Given the description of an element on the screen output the (x, y) to click on. 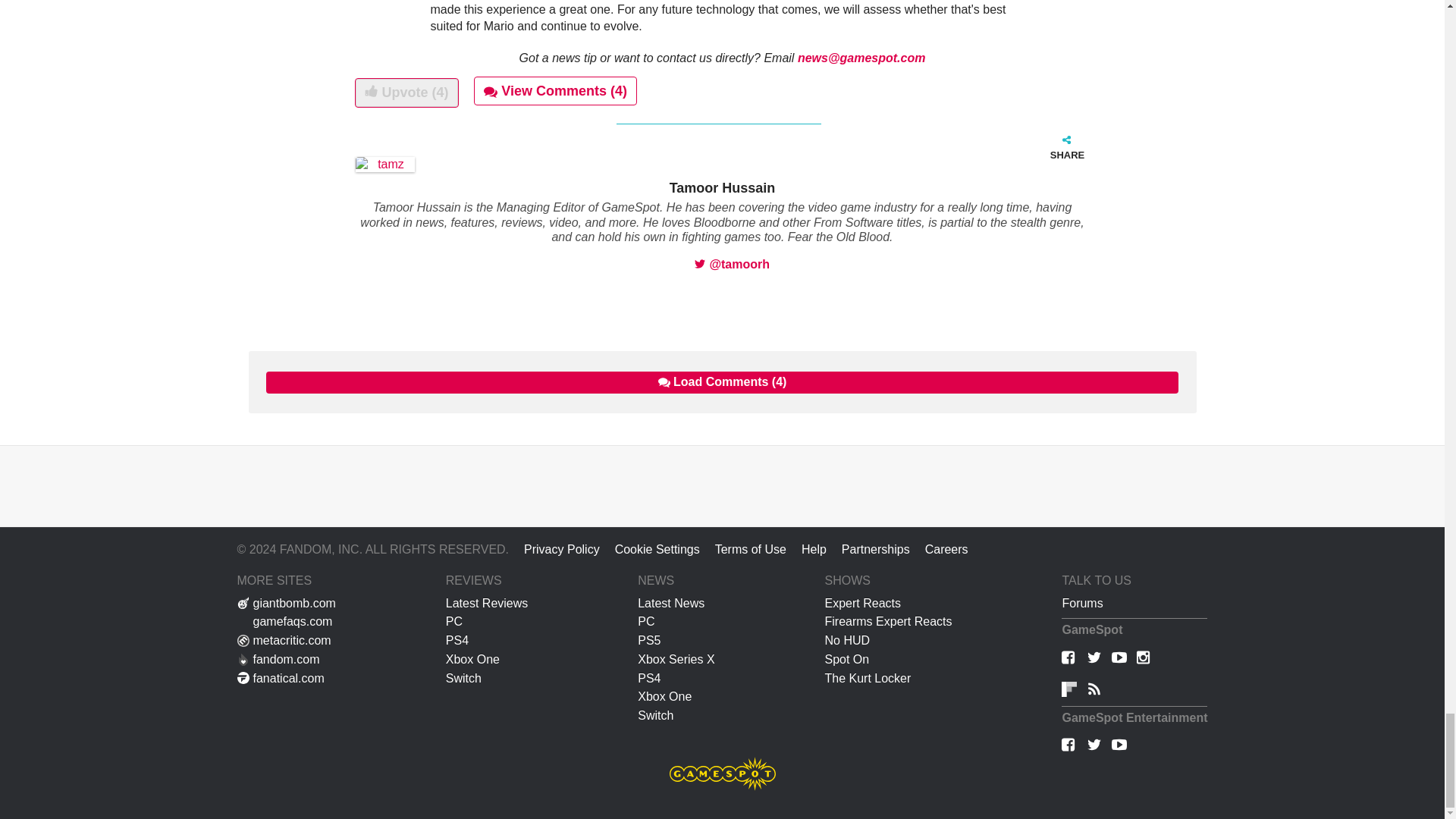
Follow this author on Twitter! (732, 264)
